Given the description of an element on the screen output the (x, y) to click on. 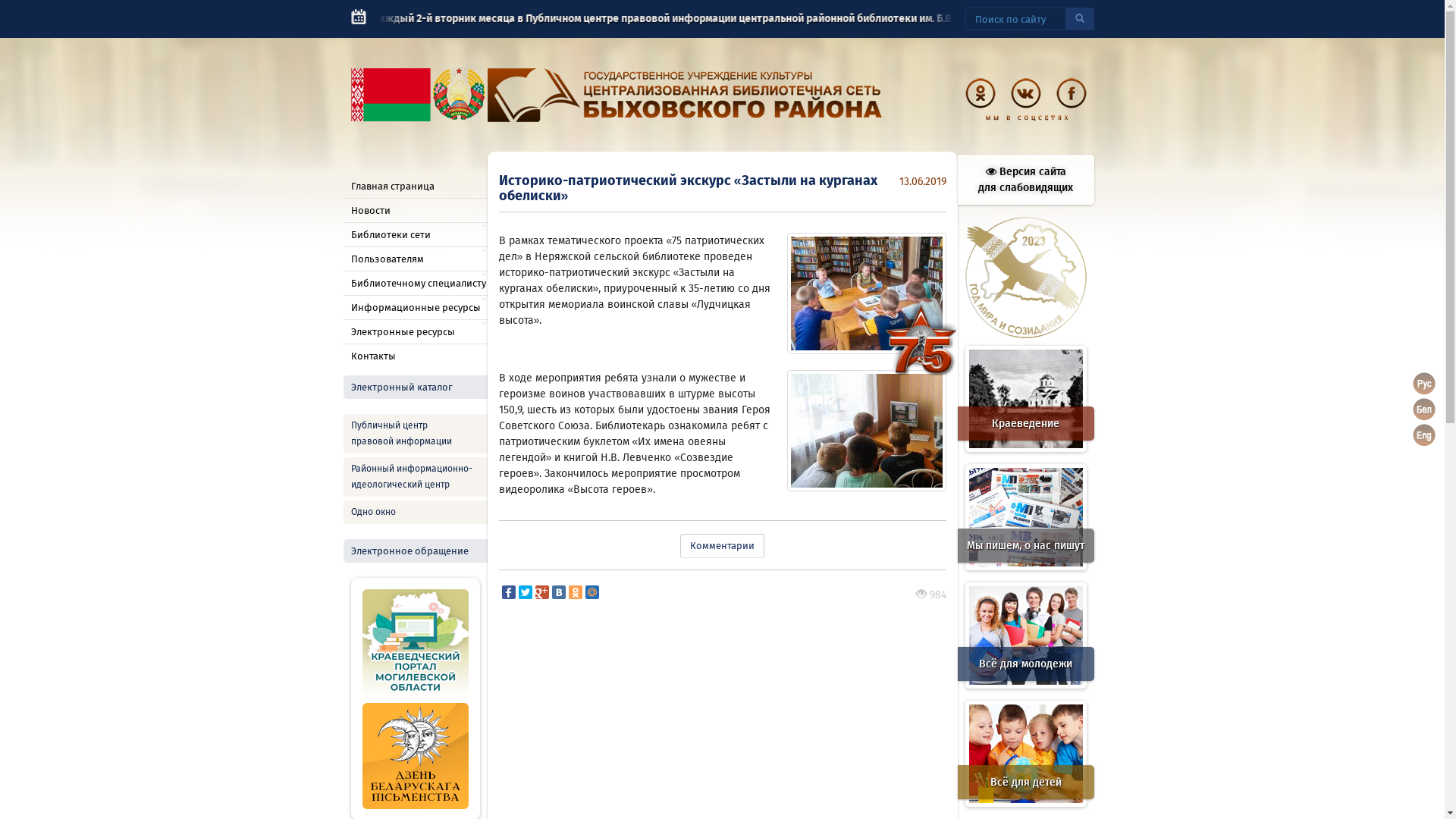
Twitter Element type: hover (525, 592)
Google Plus Element type: hover (542, 592)
Facebook Element type: hover (508, 592)
